Given the description of an element on the screen output the (x, y) to click on. 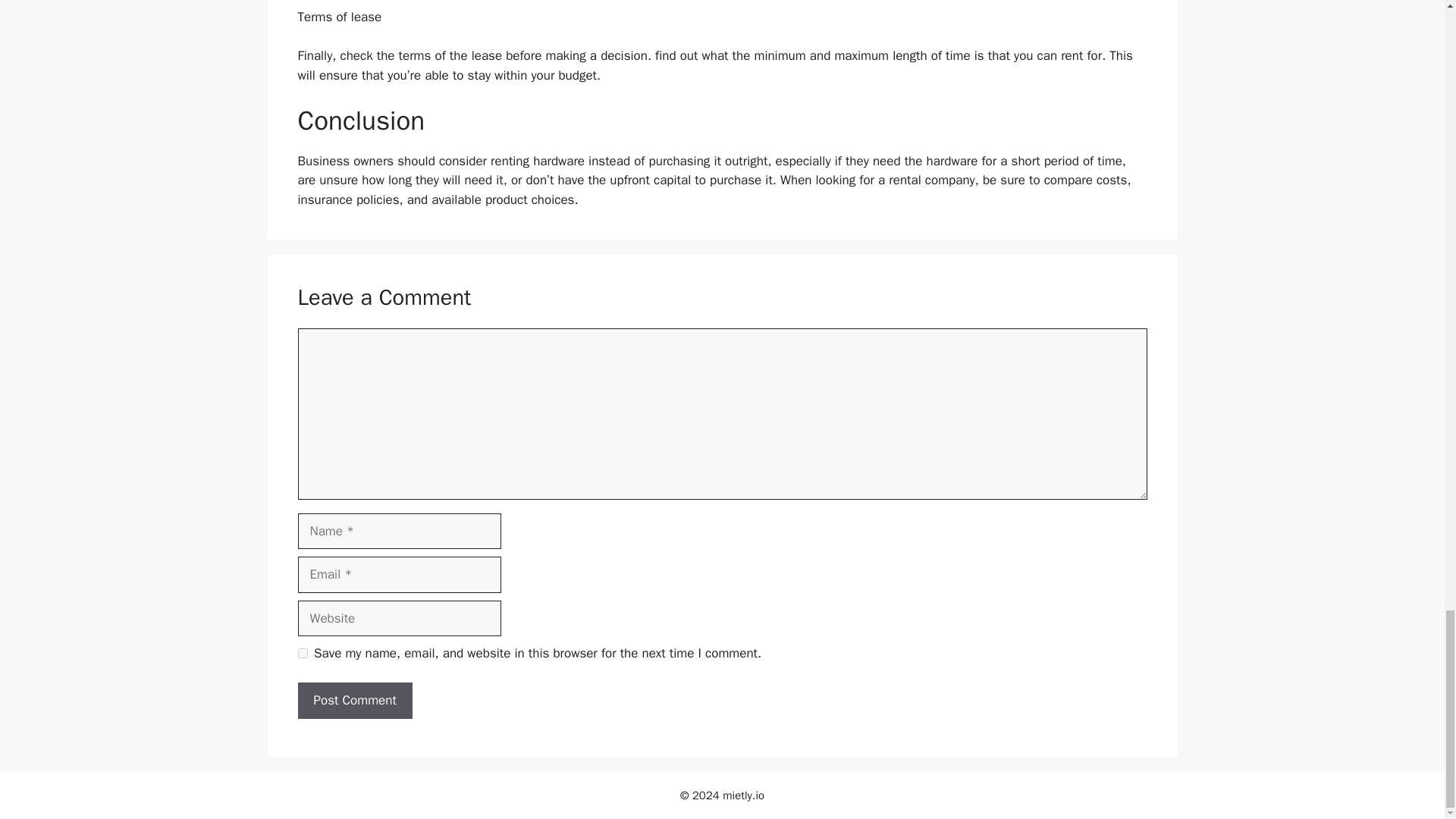
yes (302, 653)
Post Comment (354, 700)
Post Comment (354, 700)
